Given the description of an element on the screen output the (x, y) to click on. 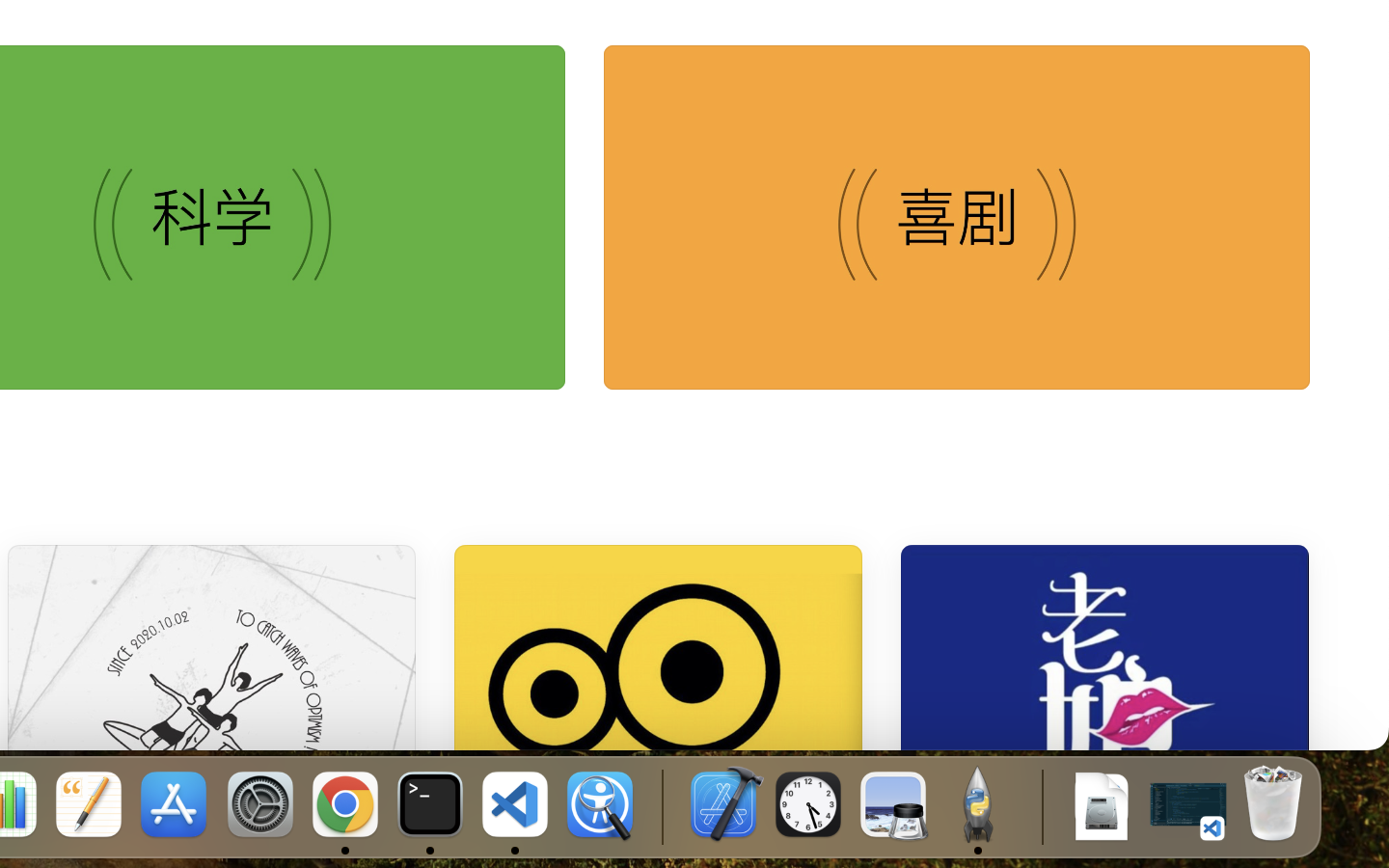
0.4285714328289032 Element type: AXDockItem (660, 805)
